Given the description of an element on the screen output the (x, y) to click on. 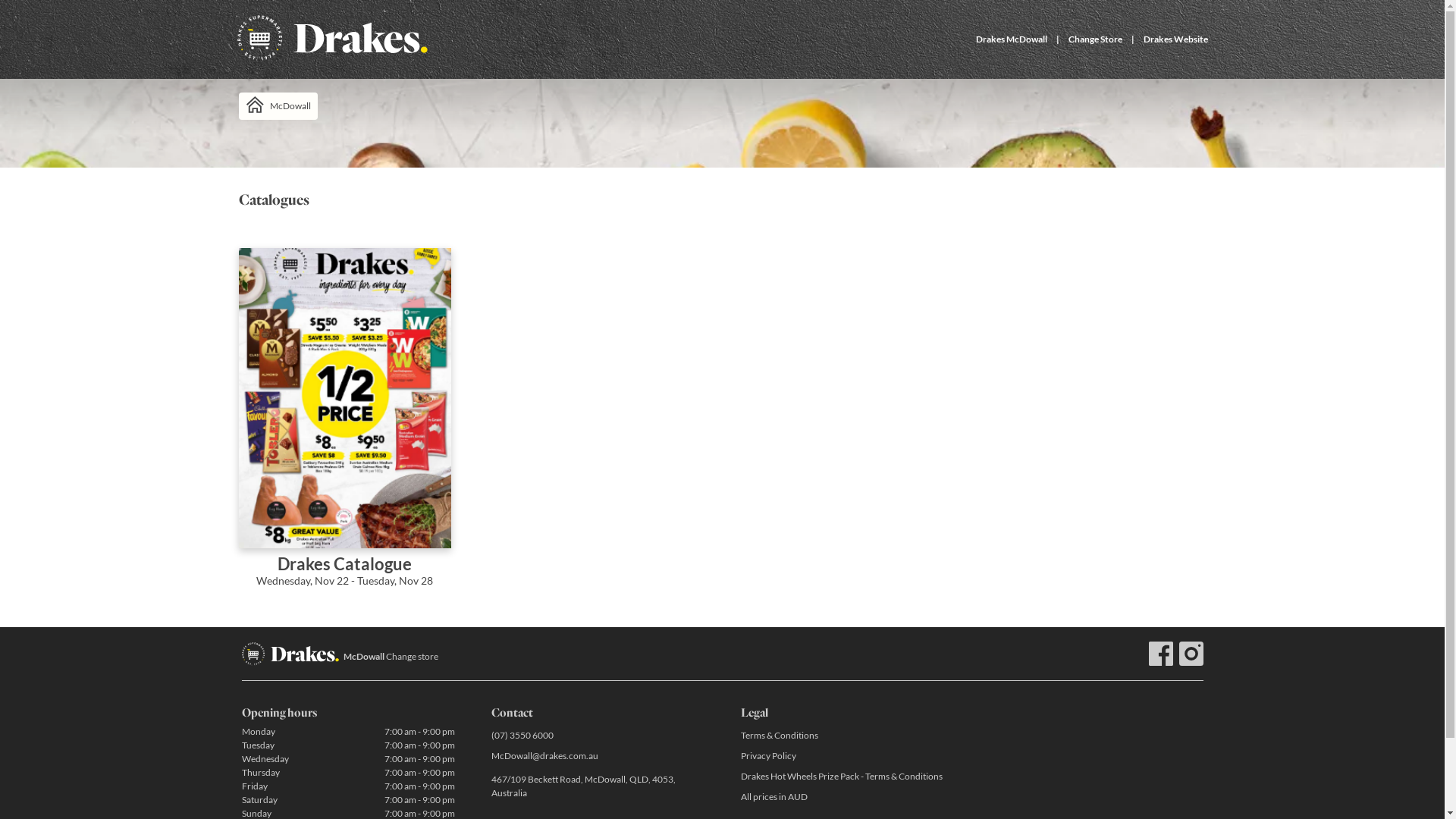
Drakes Hot Wheels Prize Pack - Terms & Conditions Element type: text (846, 775)
McDowall Change store Element type: text (390, 656)
Change Store Element type: text (1094, 38)
Privacy Policy Element type: text (846, 755)
Instagram drakessupermarkets Element type: hover (1190, 653)
(07) 3550 6000 Element type: text (597, 734)
Terms & Conditions Element type: text (846, 734)
Drakes Catalogue
Wednesday, Nov 22 - Tuesday, Nov 28 Element type: text (344, 427)
467/109 Beckett Road, McDowall, QLD, 4053, Australia Element type: text (597, 785)
Facebook Element type: hover (1160, 653)
McDowall@drakes.com.au Element type: text (597, 755)
Drakes Website Element type: text (1175, 38)
McDowall Element type: text (277, 105)
